Given the description of an element on the screen output the (x, y) to click on. 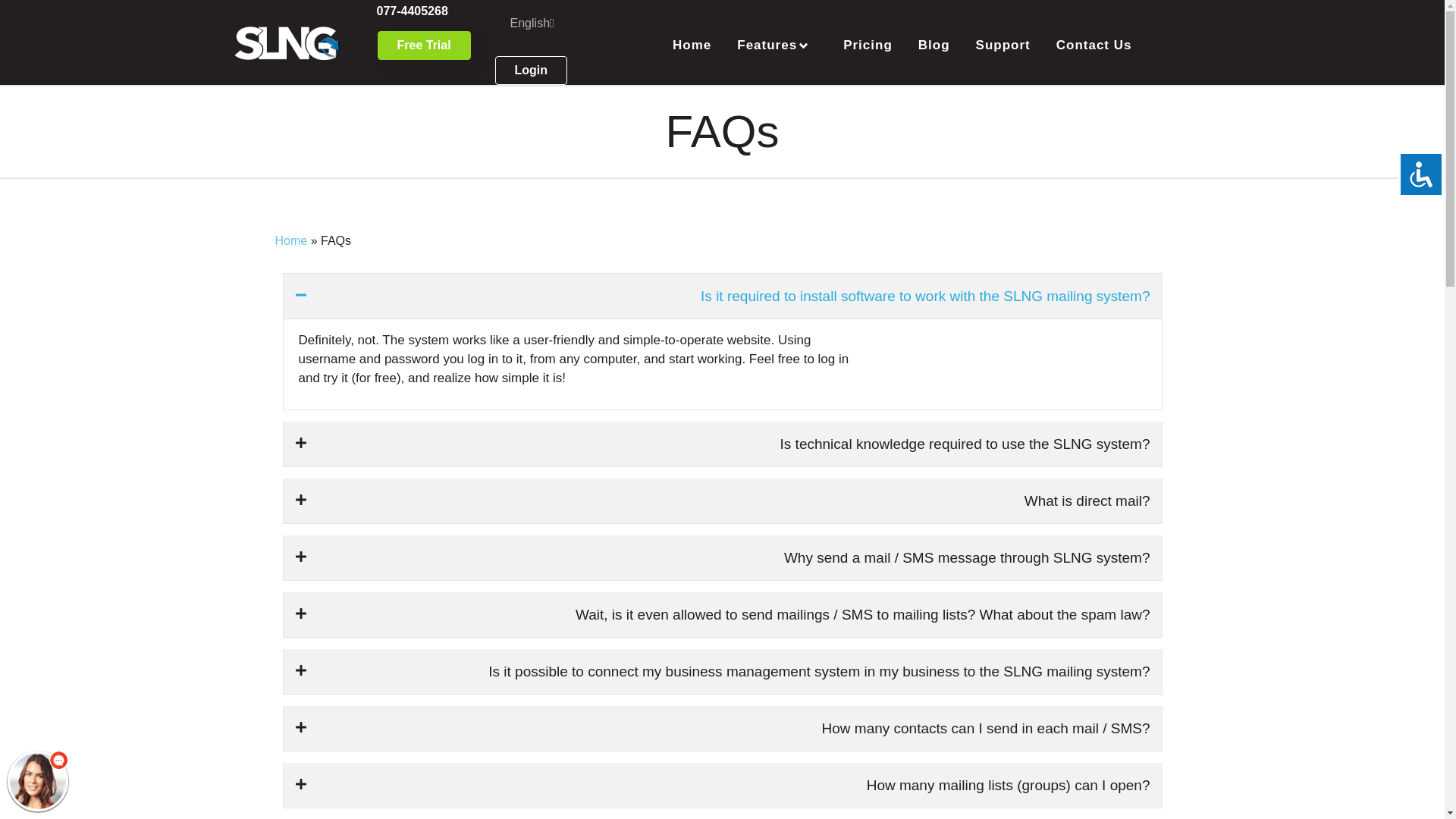
Features (777, 45)
Home (691, 45)
English (535, 22)
Login (531, 70)
Support (1002, 45)
Contact Us (1093, 45)
Blog (933, 45)
Pricing (867, 45)
077-4405268 (410, 10)
Free Trial (423, 45)
